Given the description of an element on the screen output the (x, y) to click on. 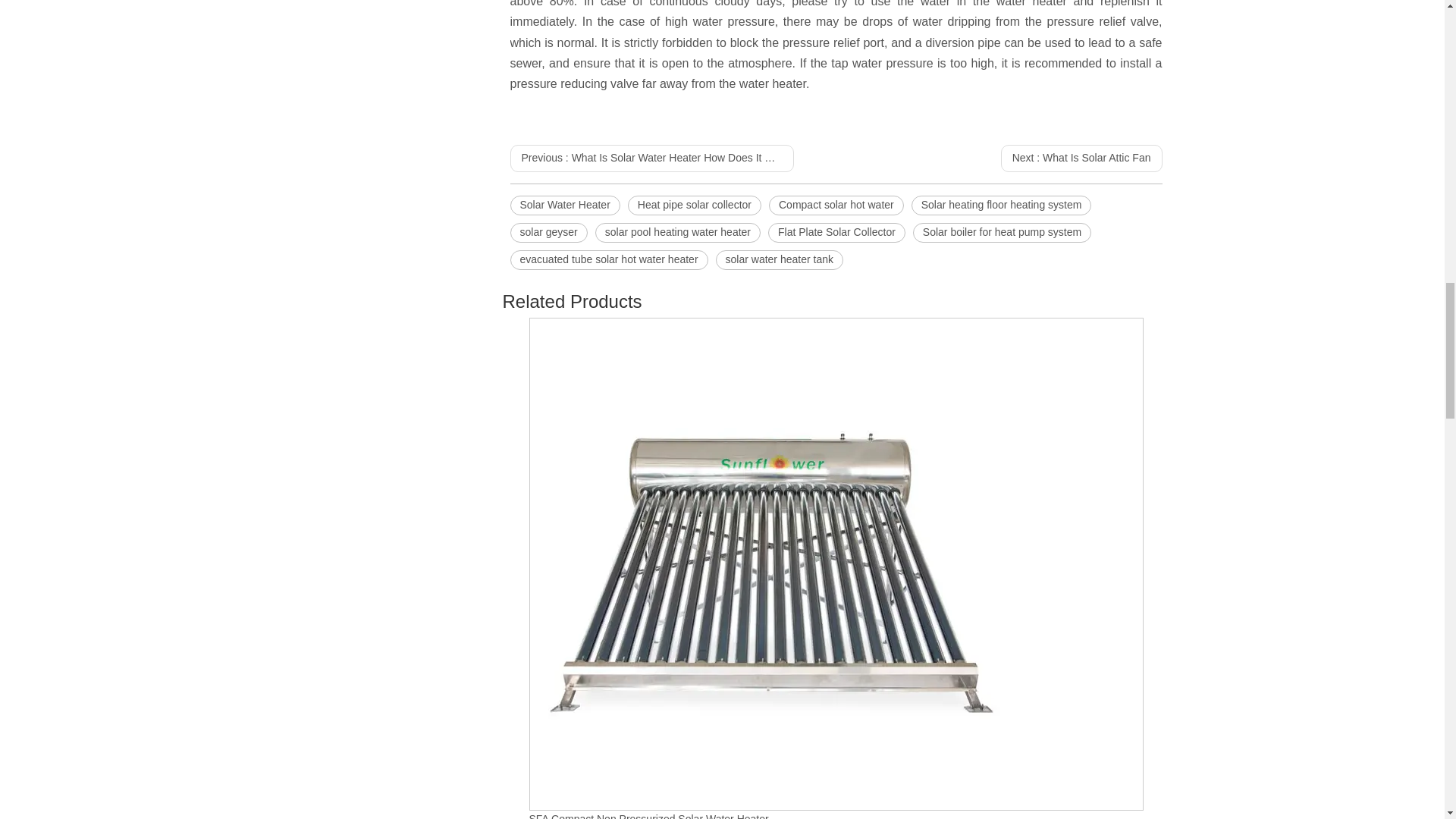
Solar Water Heater (564, 205)
Compact solar hot water (836, 205)
Heat pipe solar collector (694, 205)
Solar boiler for heat pump system (1001, 232)
SFA Compact Non Pressurized Solar Water Heater (648, 816)
solar water heater tank (779, 260)
solar pool heating water heater (677, 232)
evacuated tube solar hot water heater (608, 260)
Flat Plate Solar Collector (836, 232)
solar geyser (547, 232)
